Given the description of an element on the screen output the (x, y) to click on. 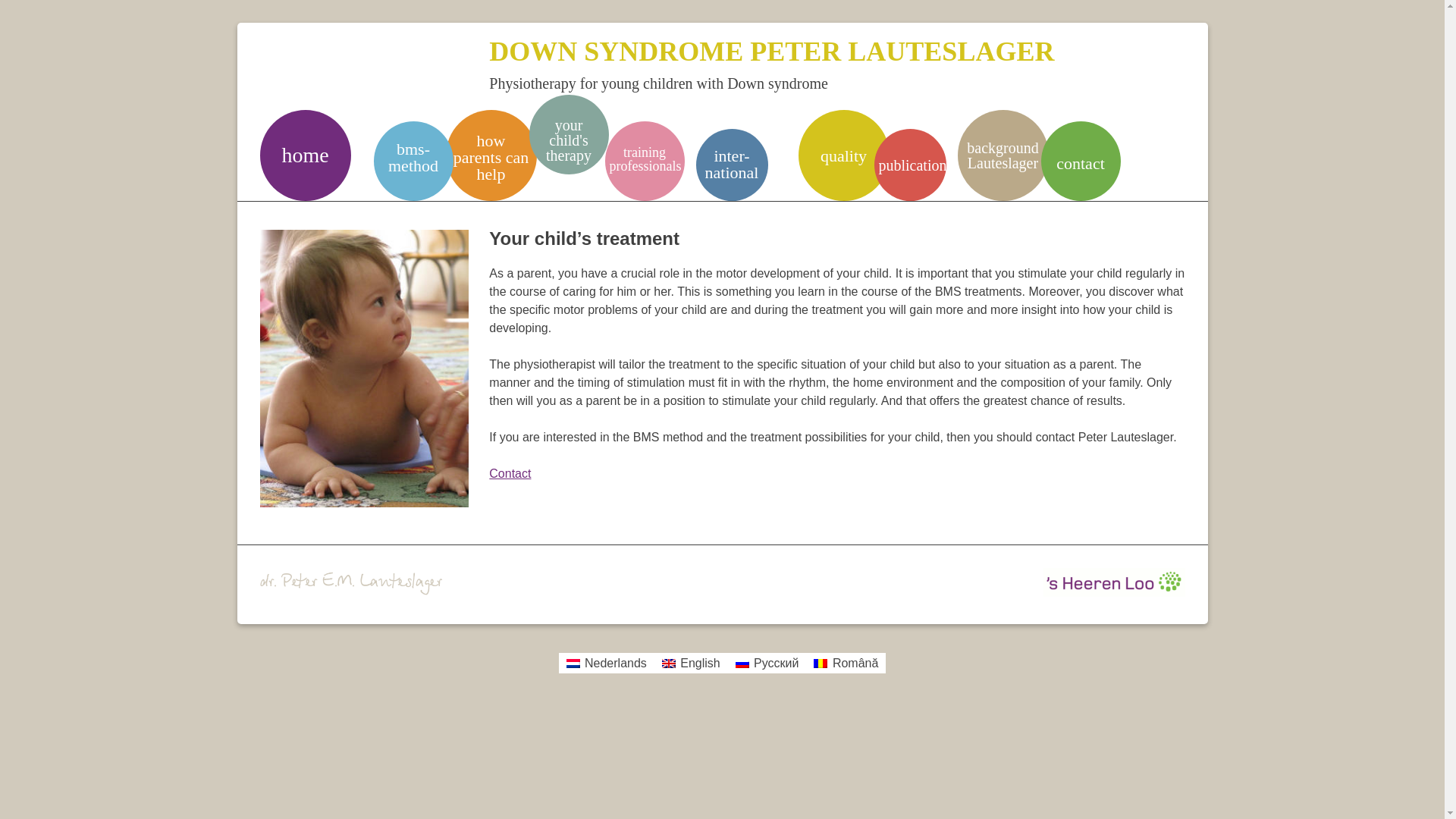
Contact (510, 472)
